Given the description of an element on the screen output the (x, y) to click on. 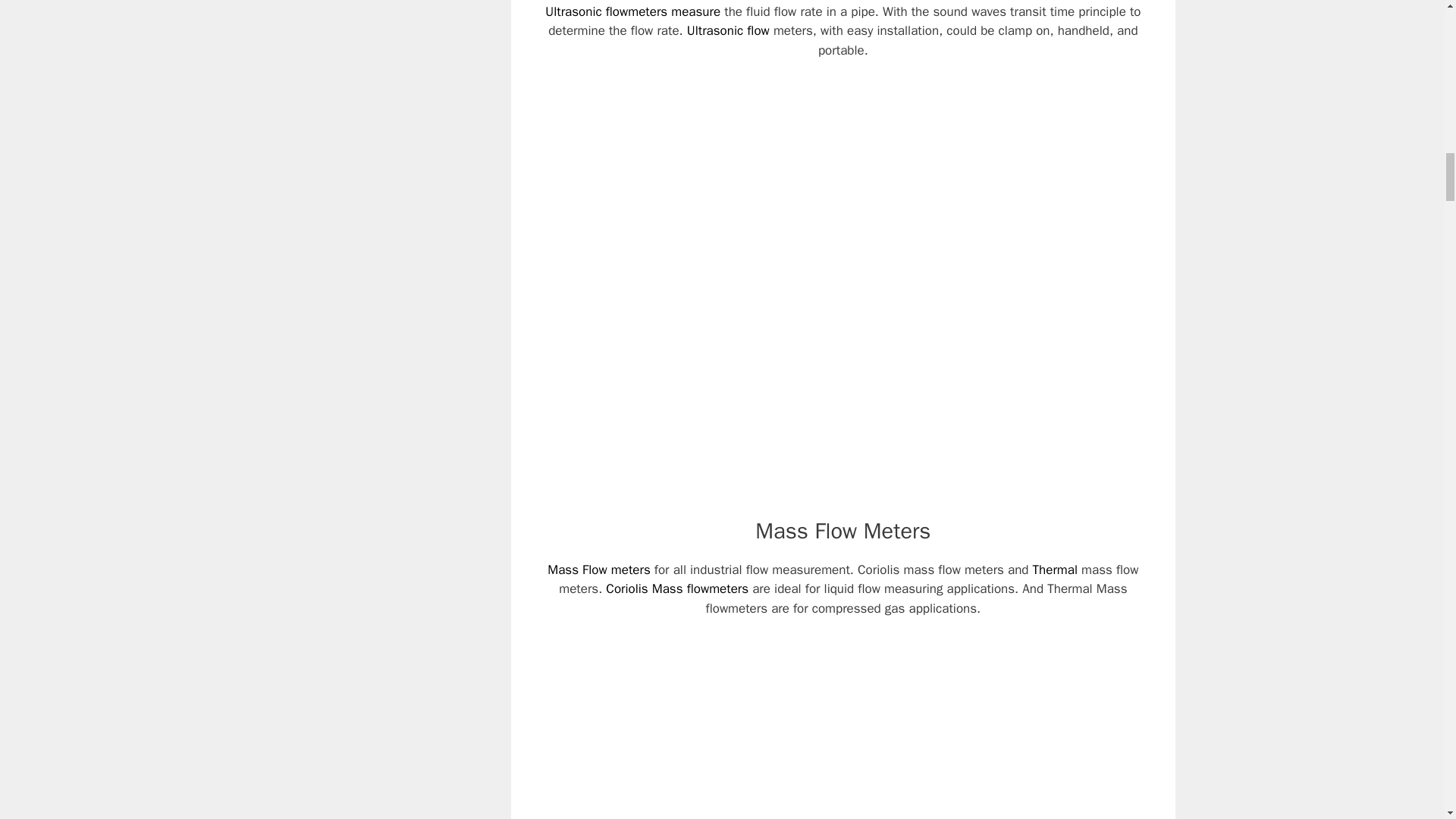
Ultrasonic flowmeters measure (632, 11)
Coriolis Mass flowmeters (676, 588)
Ultrasonic flow (728, 30)
Mass Flow Meters (842, 530)
Thermal (1054, 569)
Mass Flow meters (598, 569)
